Given the description of an element on the screen output the (x, y) to click on. 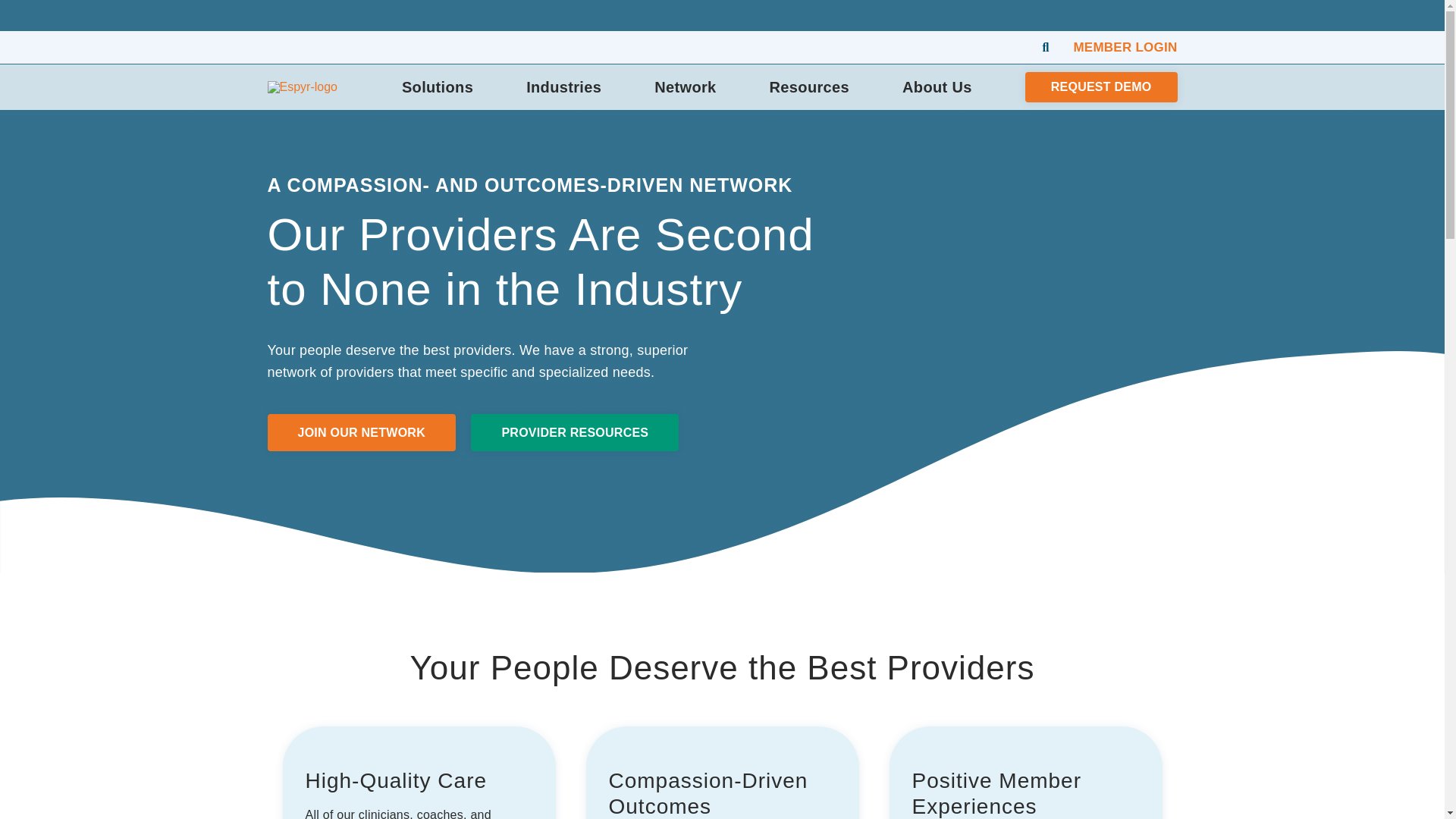
About Us (937, 87)
MEMBER LOGIN (1124, 46)
Resources (809, 87)
Request Demo (1101, 86)
Solutions (437, 87)
Network (684, 87)
REQUEST DEMO (1101, 86)
Industries (563, 87)
